Given the description of an element on the screen output the (x, y) to click on. 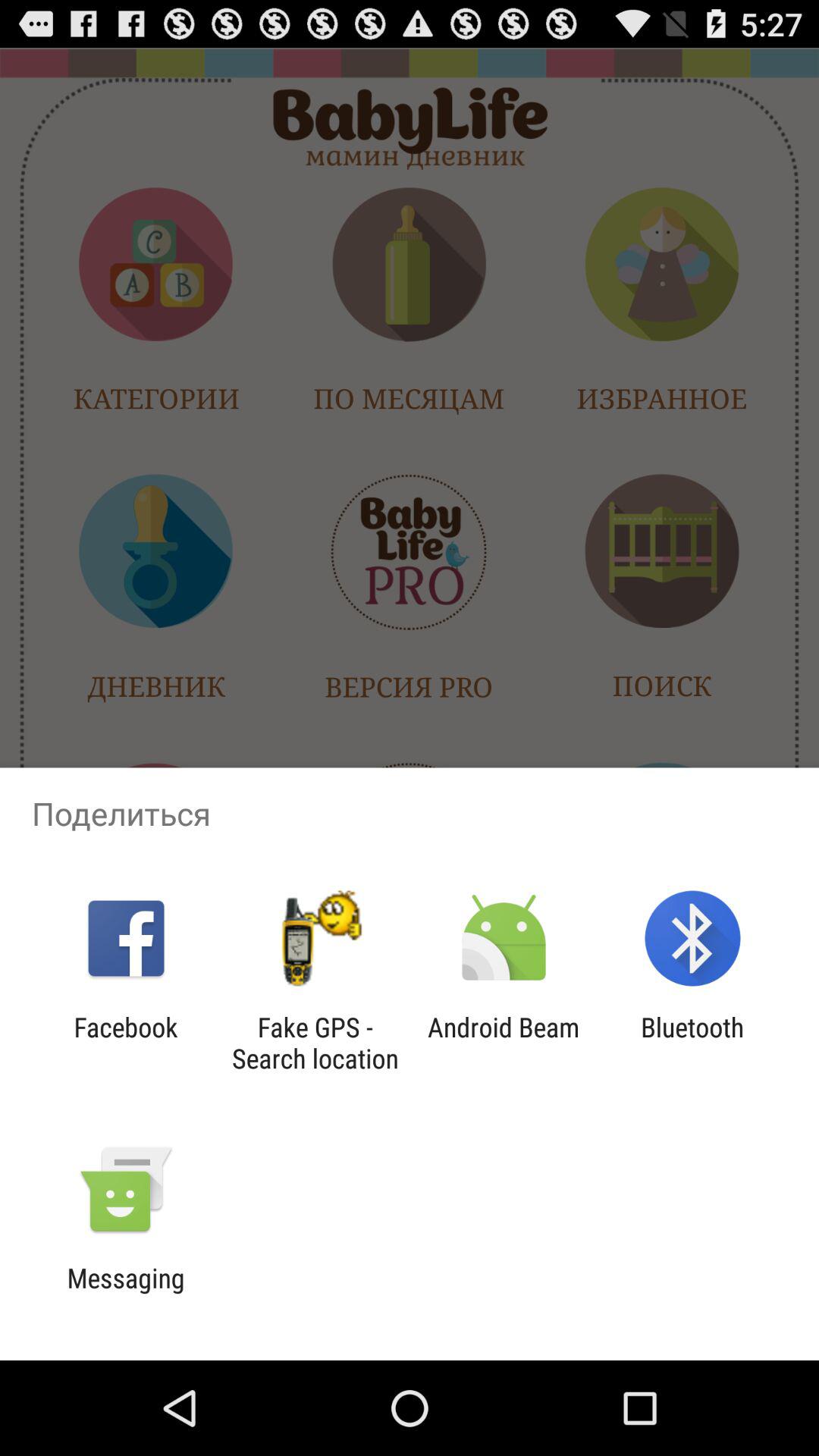
scroll until the facebook item (125, 1042)
